Given the description of an element on the screen output the (x, y) to click on. 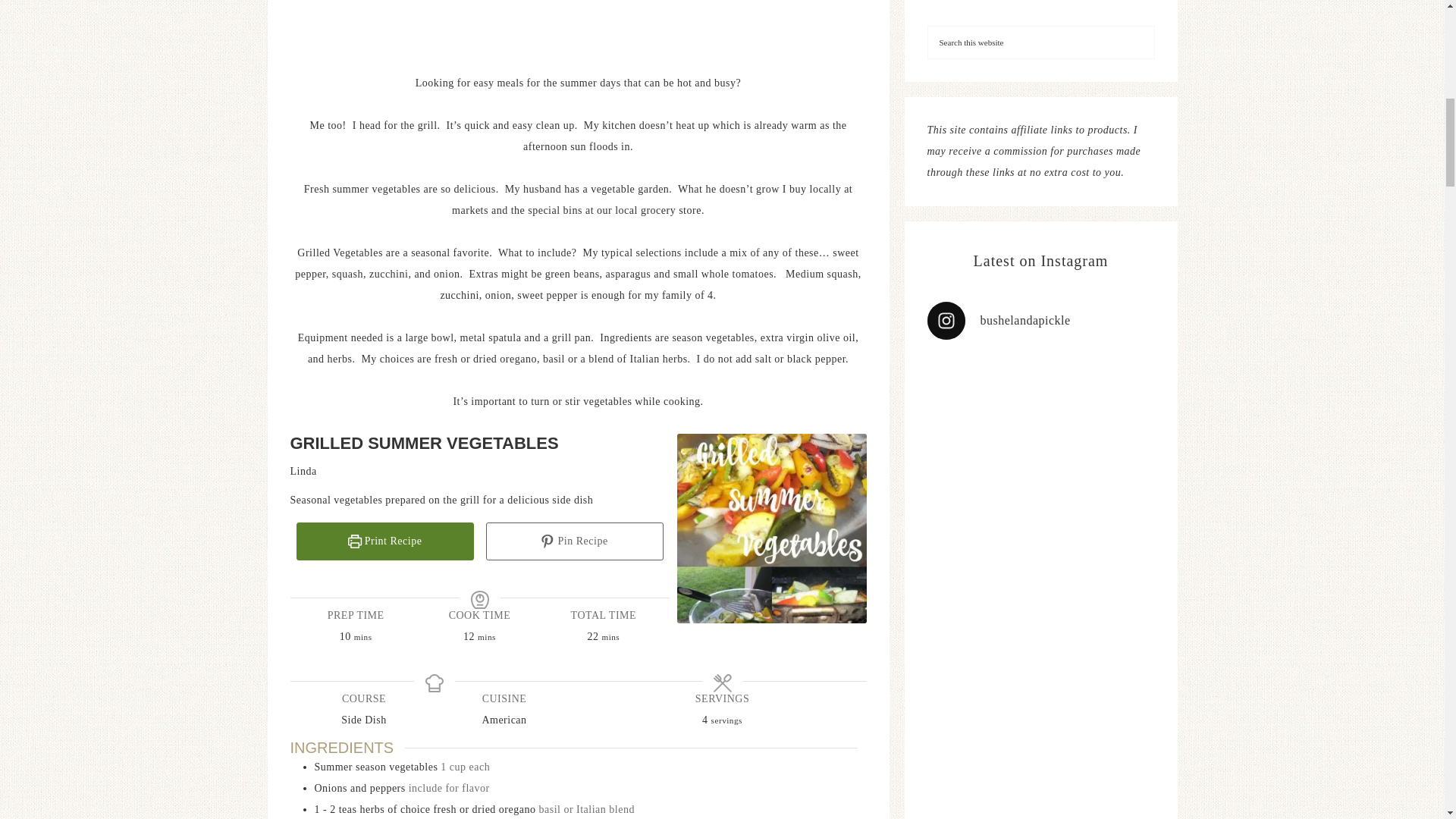
Print Recipe (384, 541)
Pin Recipe (573, 541)
